Given the description of an element on the screen output the (x, y) to click on. 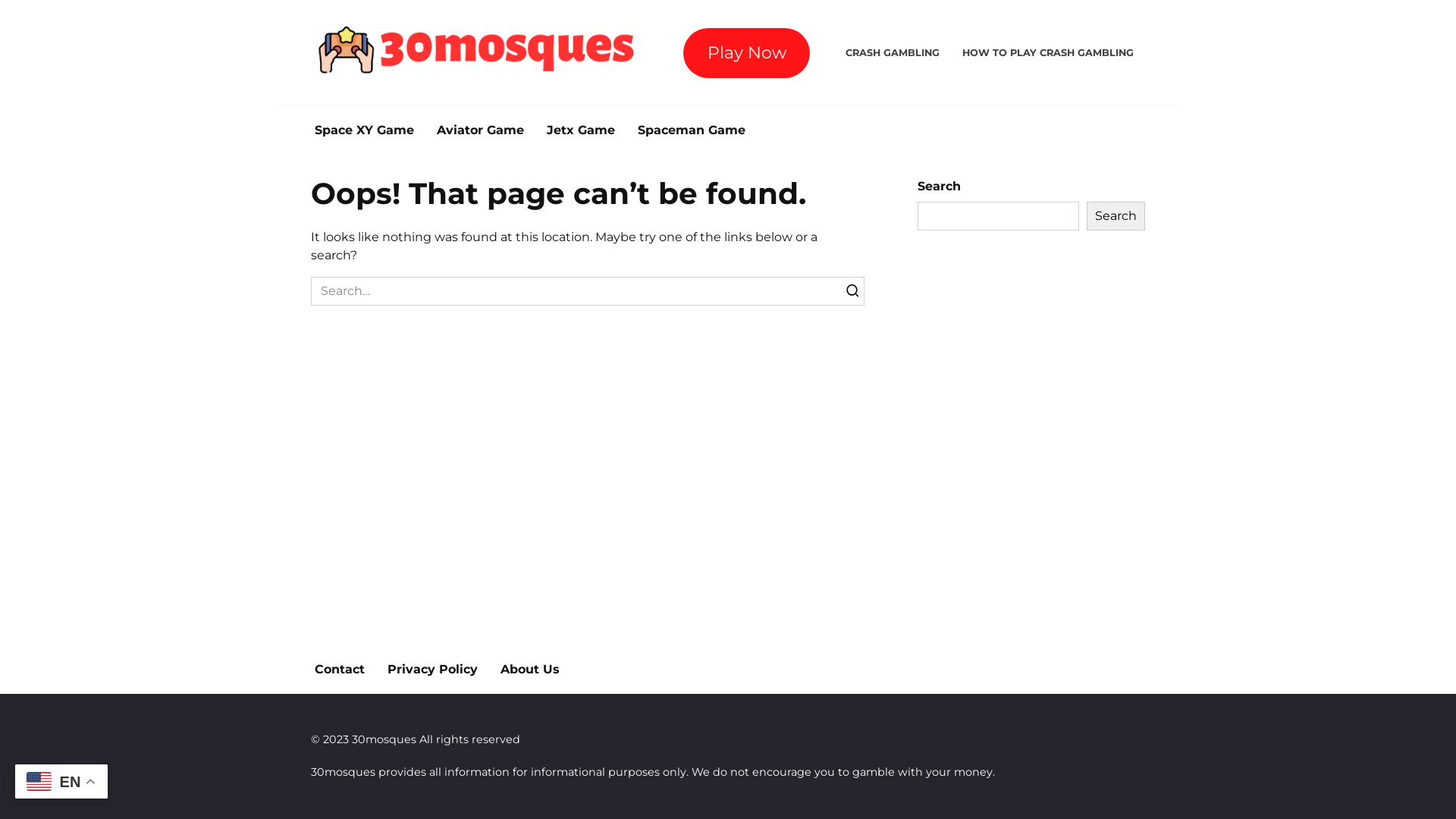
About Us Element type: text (530, 669)
Jetx Game Element type: text (580, 130)
HOW TO PLAY CRASH GAMBLING Element type: text (1047, 52)
Contact Element type: text (339, 669)
Spaceman Game Element type: text (691, 130)
Privacy Policy Element type: text (432, 669)
Aviator Game Element type: text (480, 130)
Play Now Element type: text (746, 53)
CRASH GAMBLING Element type: text (892, 52)
Space XY Game Element type: text (364, 130)
Search Element type: text (1115, 215)
